Given the description of an element on the screen output the (x, y) to click on. 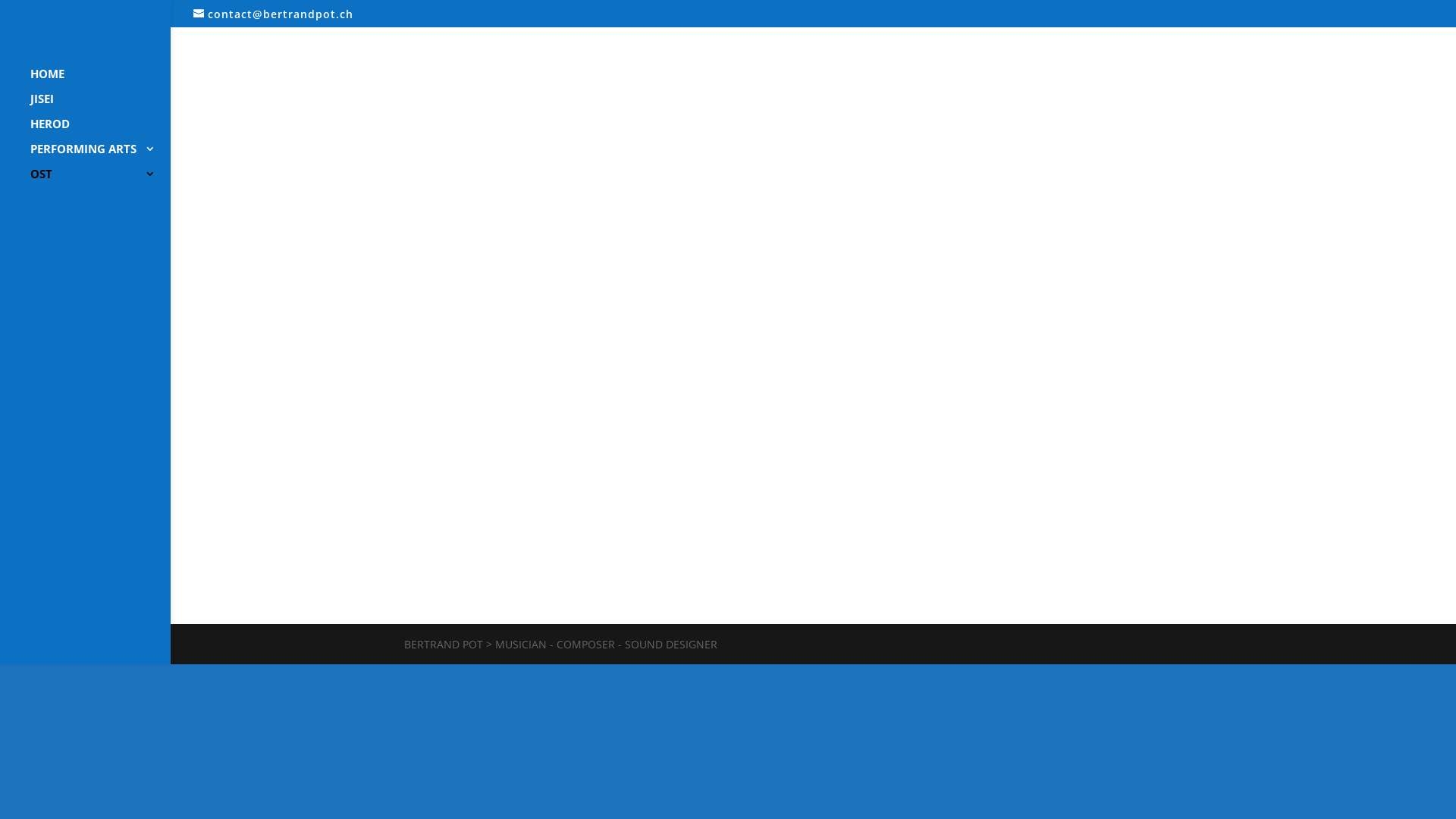
JISEI Element type: text (100, 105)
PERFORMING ARTS Element type: text (100, 155)
OST Element type: text (100, 180)
contact@bertrandpot.ch Element type: text (273, 13)
HOME Element type: text (100, 80)
HEROD Element type: text (100, 130)
